Given the description of an element on the screen output the (x, y) to click on. 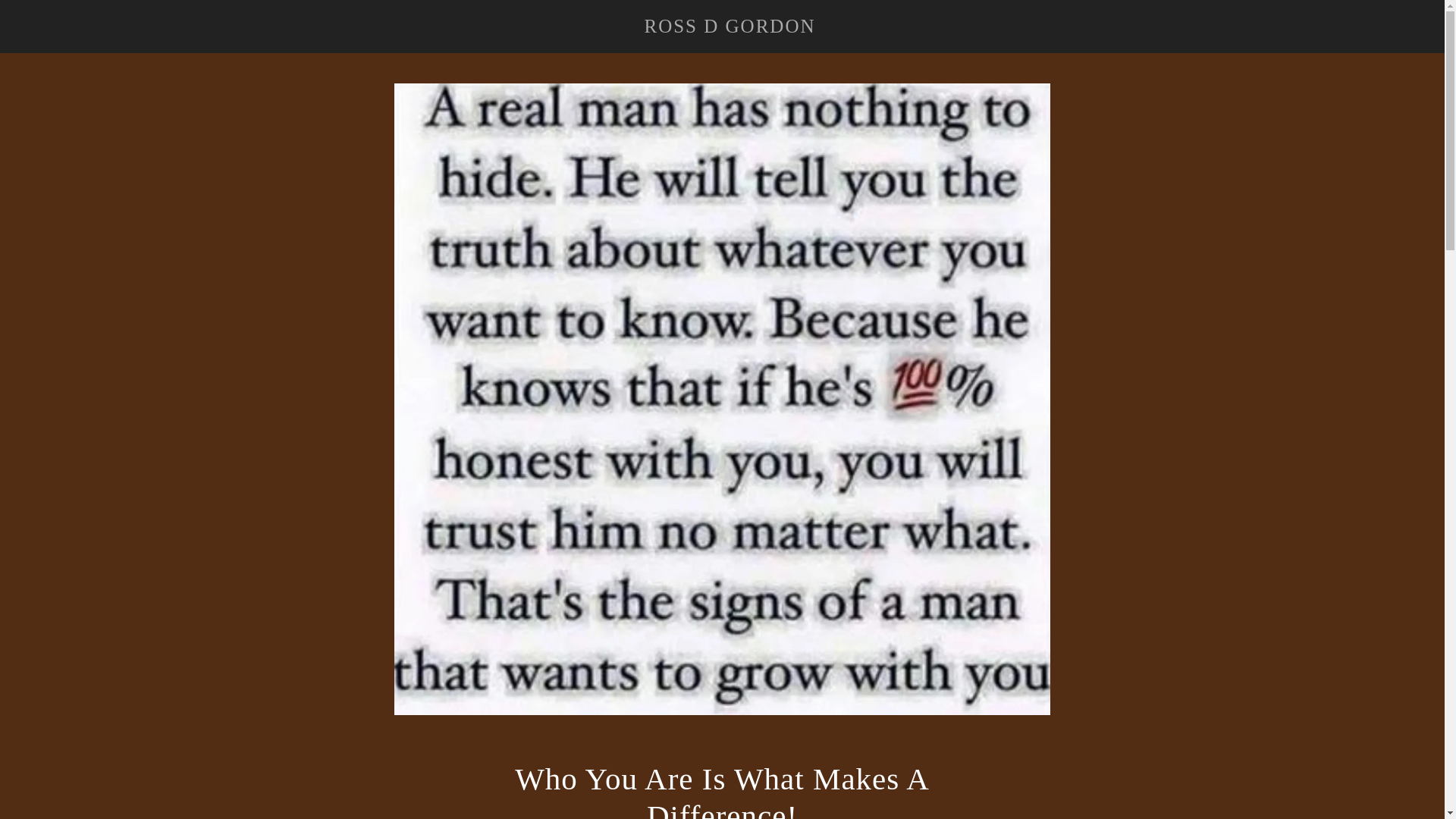
ROSS D GORDON (729, 26)
Ross D Gordon (729, 26)
